Given the description of an element on the screen output the (x, y) to click on. 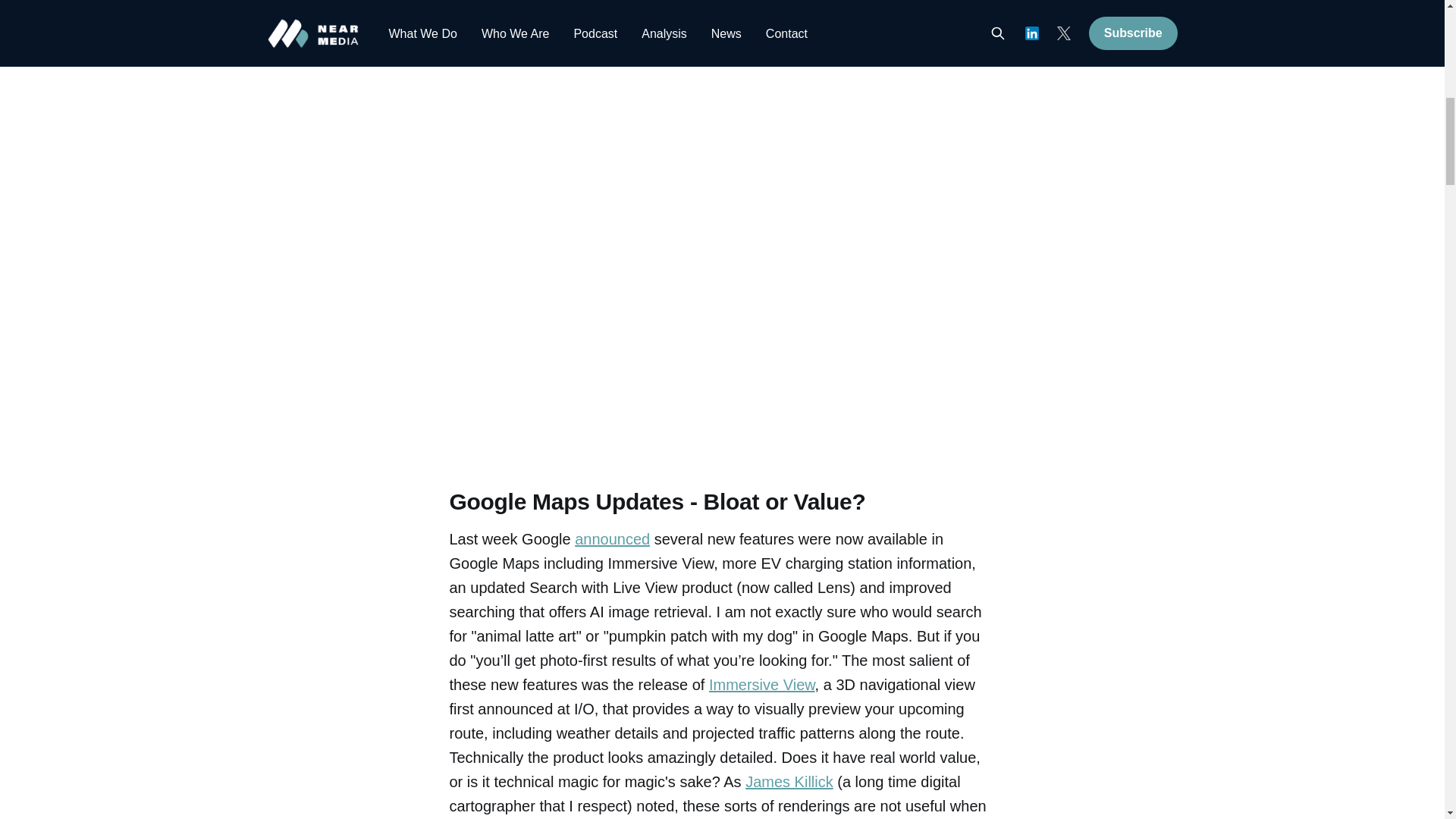
announced (612, 538)
James Killick (788, 781)
Immersive View (762, 684)
